Given the description of an element on the screen output the (x, y) to click on. 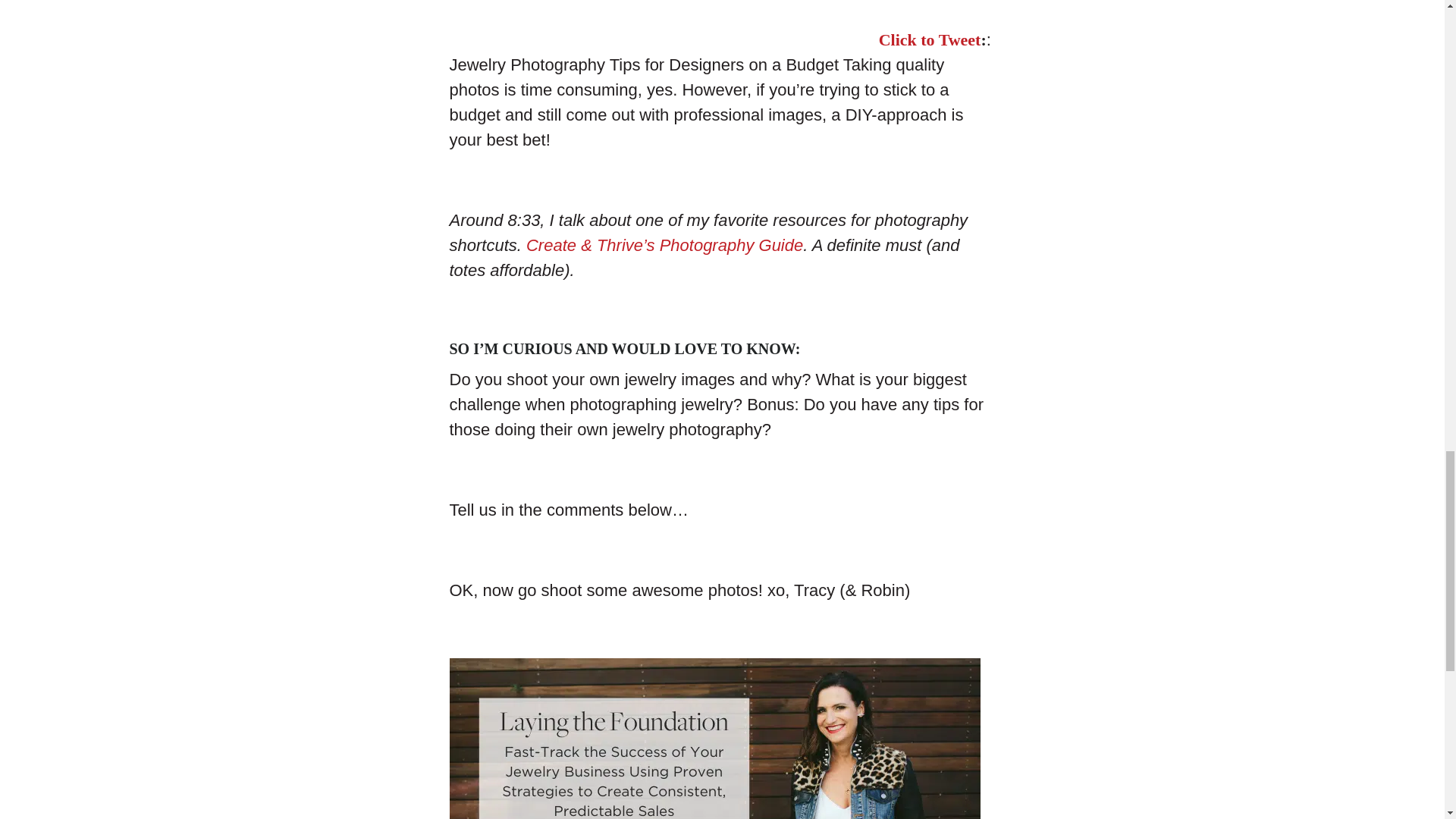
Click to Tweet (930, 39)
